Given the description of an element on the screen output the (x, y) to click on. 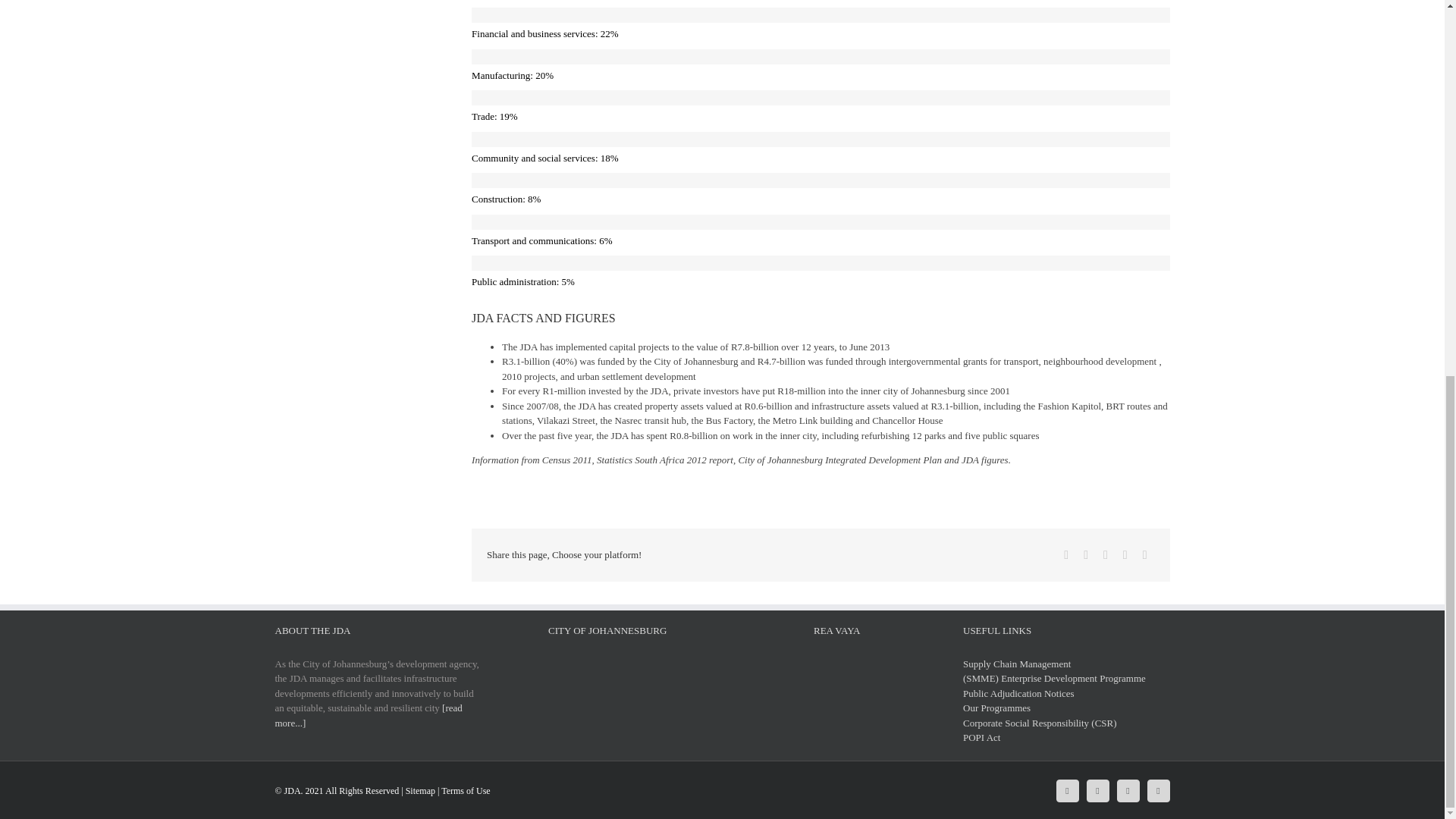
Twitter (1097, 789)
A Joburg that works is a South Africa that works (607, 686)
Facebook (1066, 555)
YouTube (1158, 789)
WhatsApp (1125, 555)
Email (1144, 555)
LinkedIn (1105, 555)
Facebook (1066, 789)
Instagram (1127, 789)
Twitter (1085, 555)
